Given the description of an element on the screen output the (x, y) to click on. 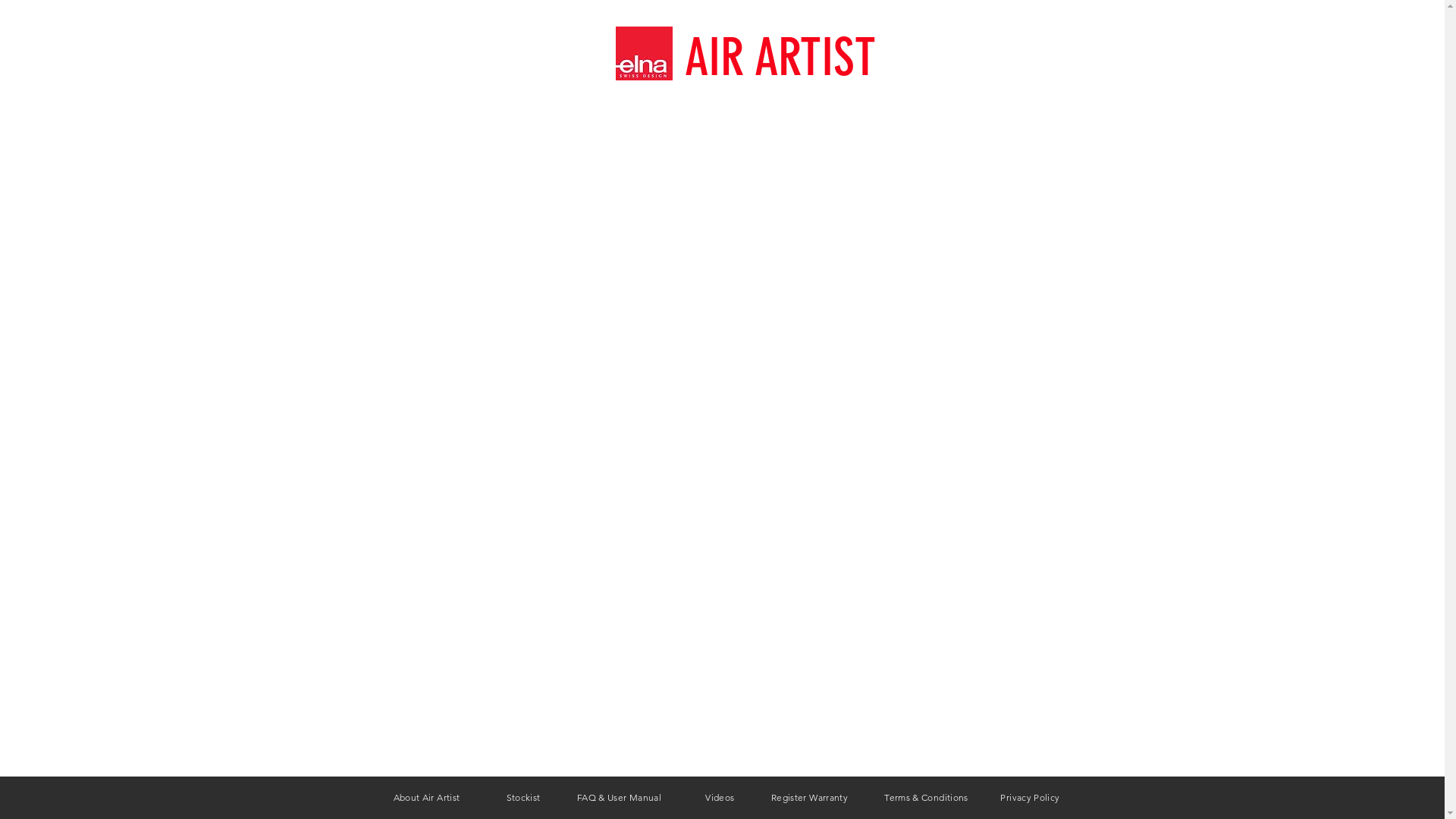
Videos Element type: text (719, 798)
FAQ & User Manual Element type: text (619, 798)
Register Warranty Element type: text (809, 798)
Privacy Policy Element type: text (1029, 798)
About Air Artist Element type: text (426, 798)
AIR ARTIST Element type: text (779, 56)
Terms & Conditions Element type: text (925, 798)
Stockist Element type: text (523, 798)
